Given the description of an element on the screen output the (x, y) to click on. 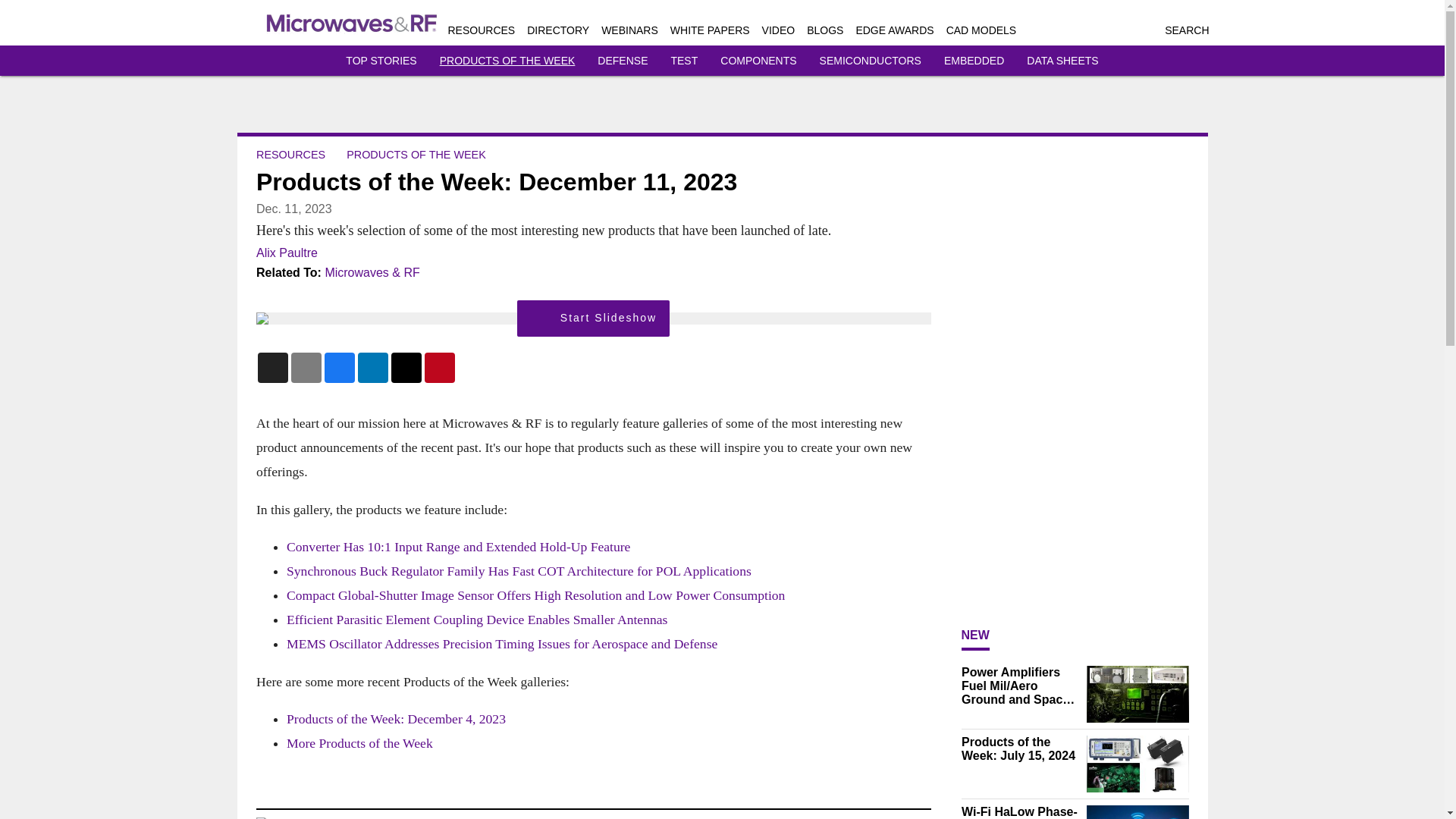
EDGE AWARDS (894, 30)
Converter Has 10:1 Input Range and Extended Hold-Up Feature (458, 546)
VIDEO (777, 30)
BLOGS (824, 30)
TEST (683, 60)
Alix Paultre (286, 252)
SEARCH (1186, 30)
EMBEDDED (973, 60)
RESOURCES (480, 30)
WHITE PAPERS (709, 30)
DIRECTORY (558, 30)
Start Slideshow (592, 318)
